Given the description of an element on the screen output the (x, y) to click on. 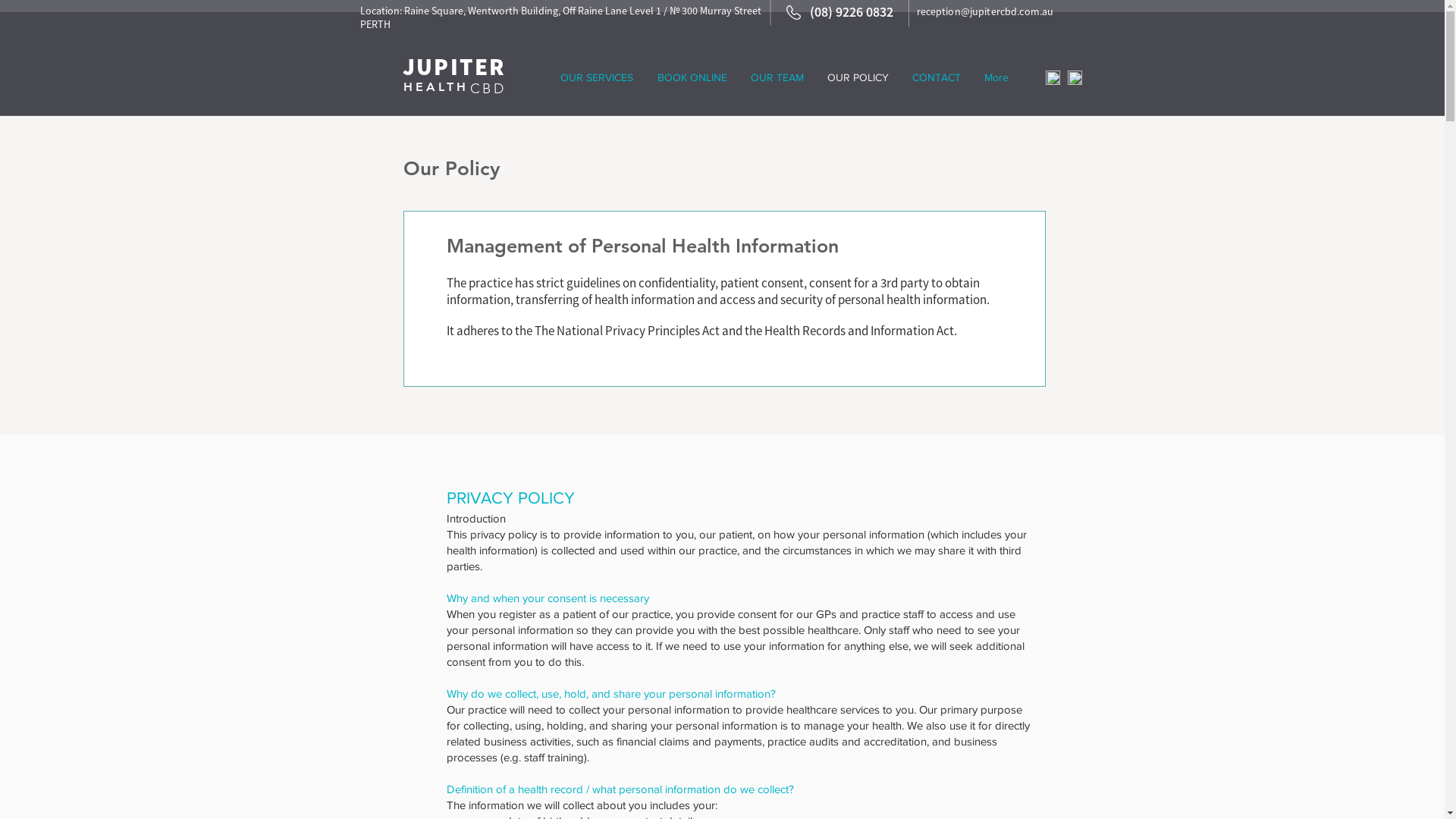
JUPITER Element type: text (453, 67)
CONTACT Element type: text (936, 77)
(08) 9226 0832   Element type: text (854, 11)
reception@jupitercbd.com.au Element type: text (984, 11)
OUR SERVICES Element type: text (595, 77)
OUR TEAM Element type: text (776, 77)
HEALTH Element type: text (435, 86)
BOOK ONLINE Element type: text (691, 77)
CBD Element type: text (488, 88)
300 Murray Street PERTH Element type: text (559, 17)
OUR POLICY Element type: text (857, 77)
